Given the description of an element on the screen output the (x, y) to click on. 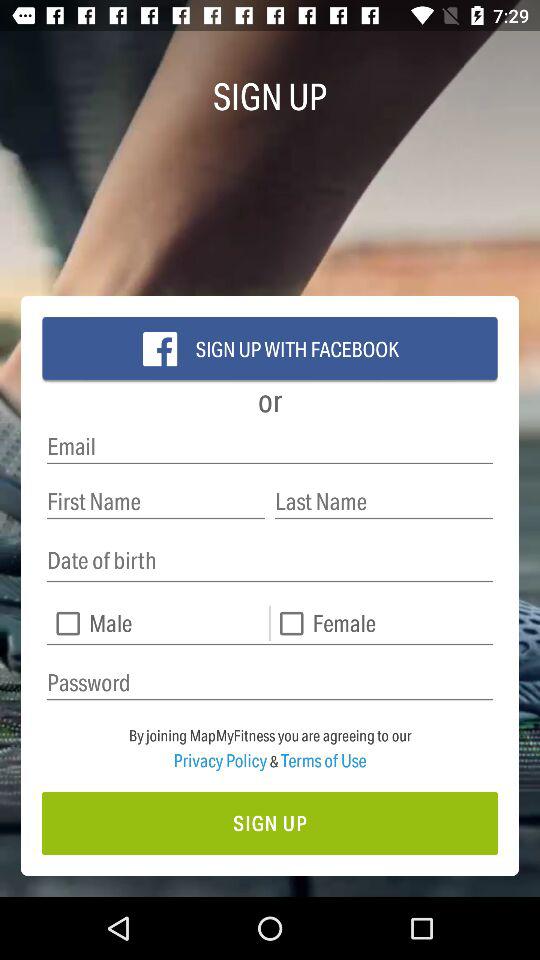
enter password (270, 682)
